Given the description of an element on the screen output the (x, y) to click on. 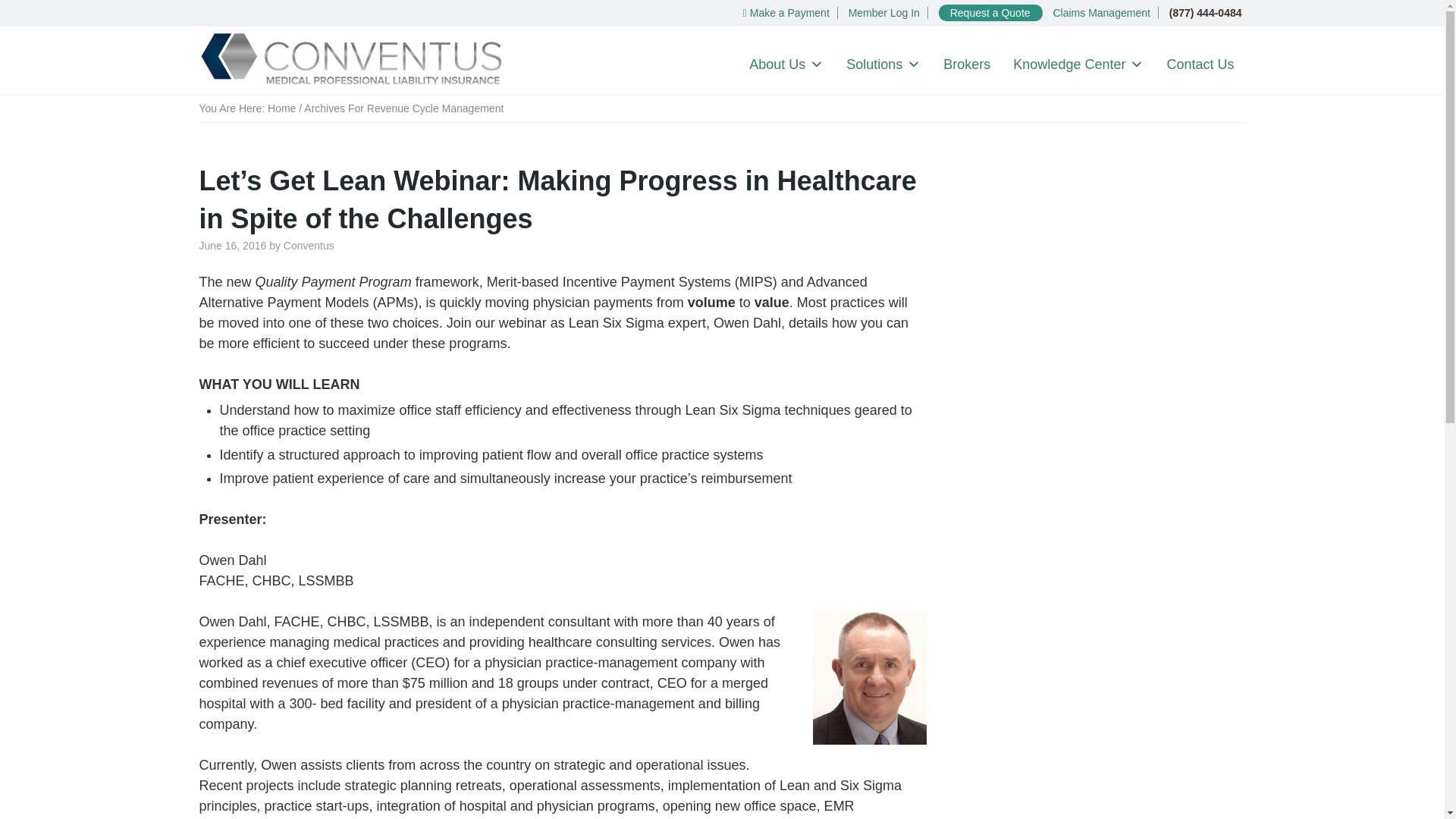
Request a Quote (990, 12)
Make a Payment (785, 12)
Solutions (882, 63)
Member Log In (884, 12)
Conventus (350, 60)
Claims Management (1101, 12)
About Us (786, 63)
